Given the description of an element on the screen output the (x, y) to click on. 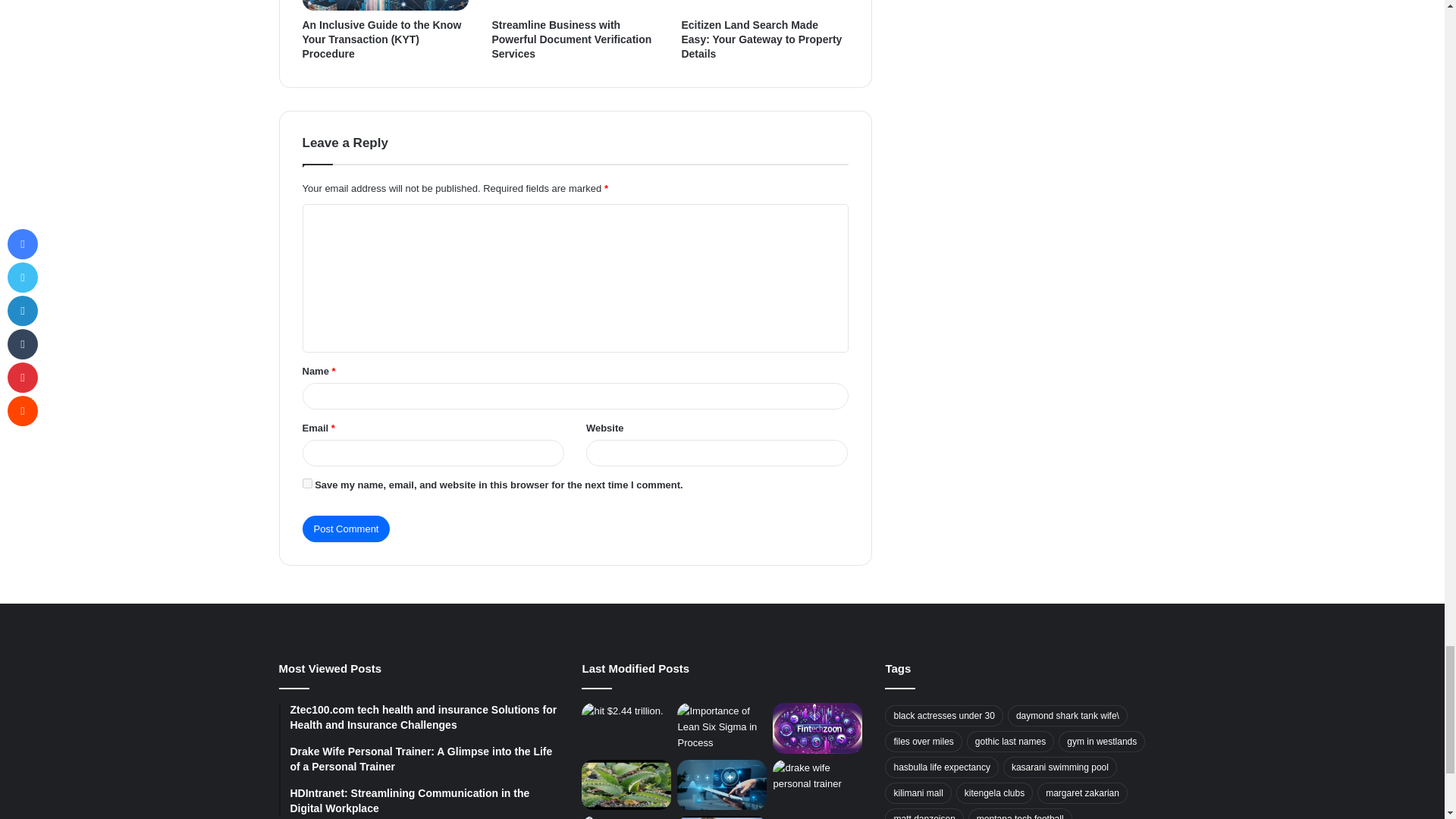
Post Comment (345, 528)
yes (306, 483)
